Given the description of an element on the screen output the (x, y) to click on. 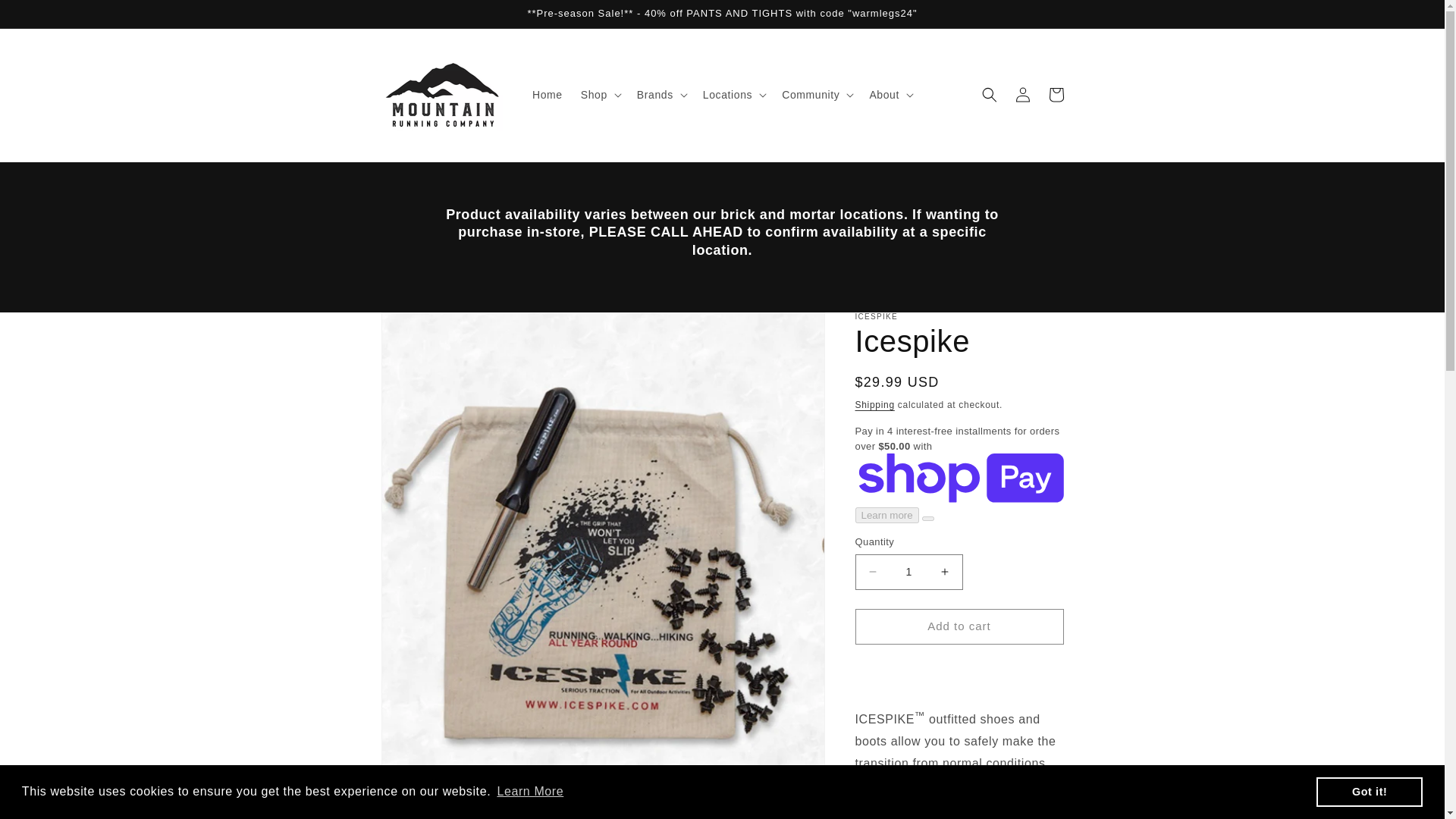
Learn More (530, 791)
Skip to content (45, 17)
1 (908, 571)
Got it! (1369, 791)
